Given the description of an element on the screen output the (x, y) to click on. 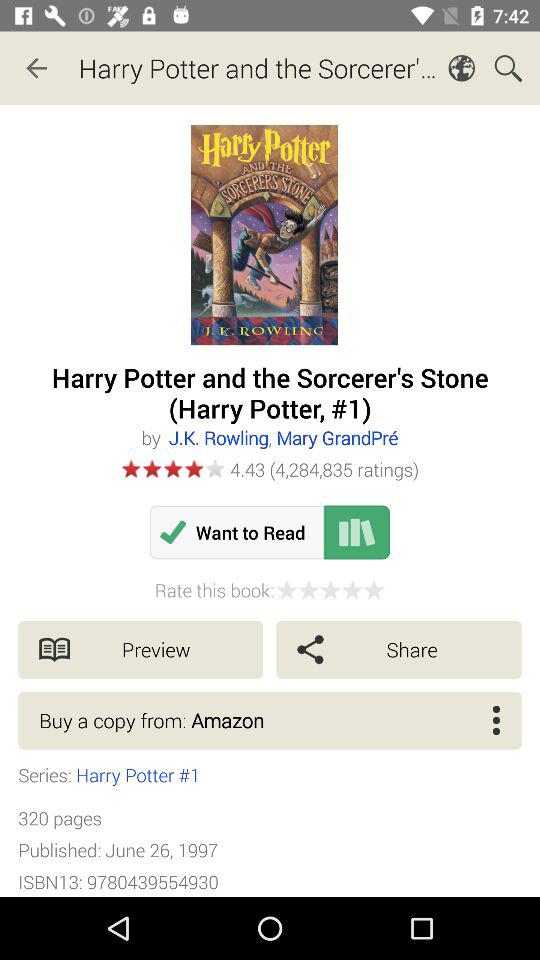
choose item below the 4 43 4 (356, 532)
